Given the description of an element on the screen output the (x, y) to click on. 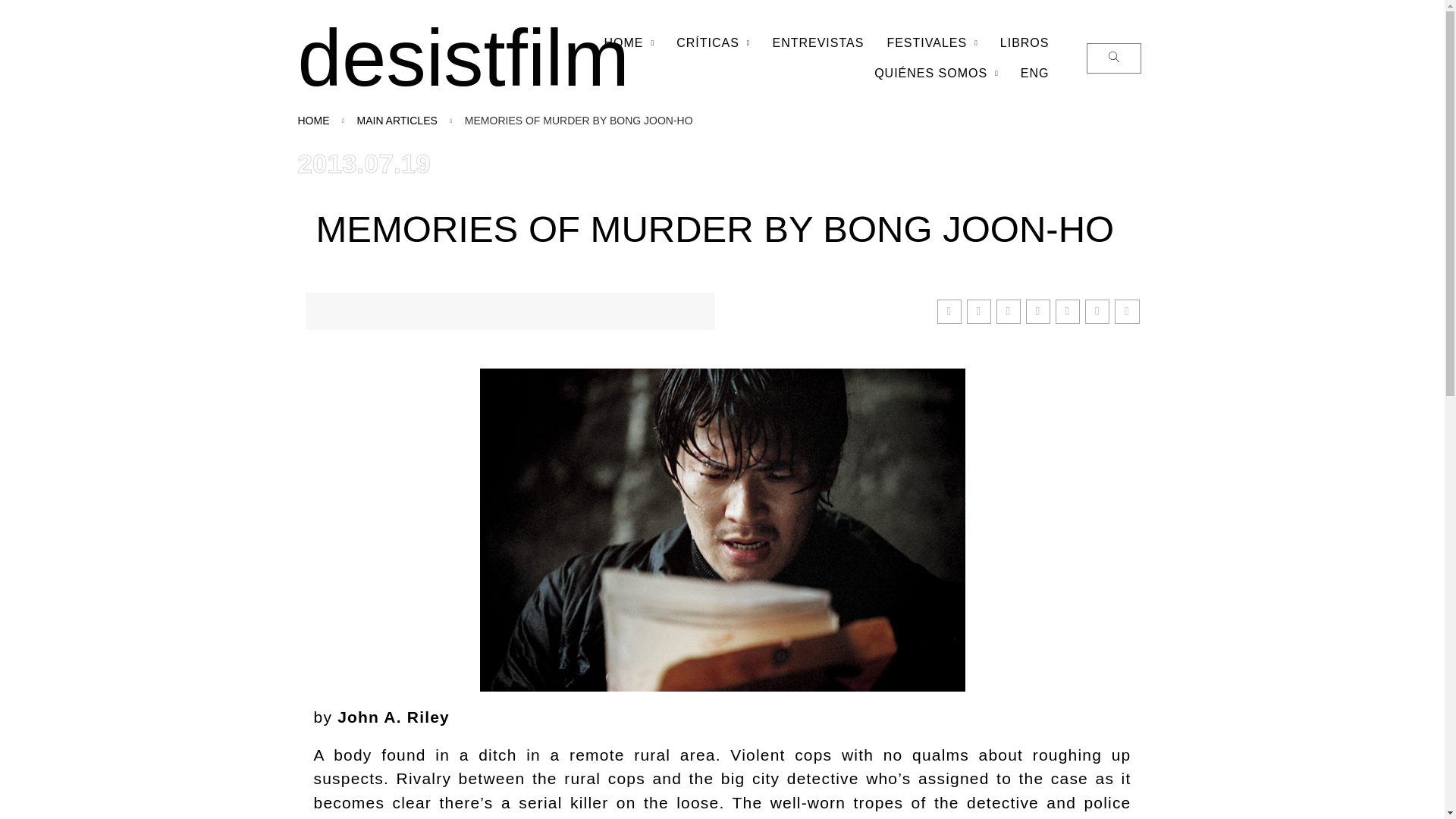
HOME (628, 42)
desistfilm (462, 57)
Home (313, 120)
FESTIVALES (931, 42)
ENTREVISTAS (817, 42)
Main Articles (396, 120)
